Given the description of an element on the screen output the (x, y) to click on. 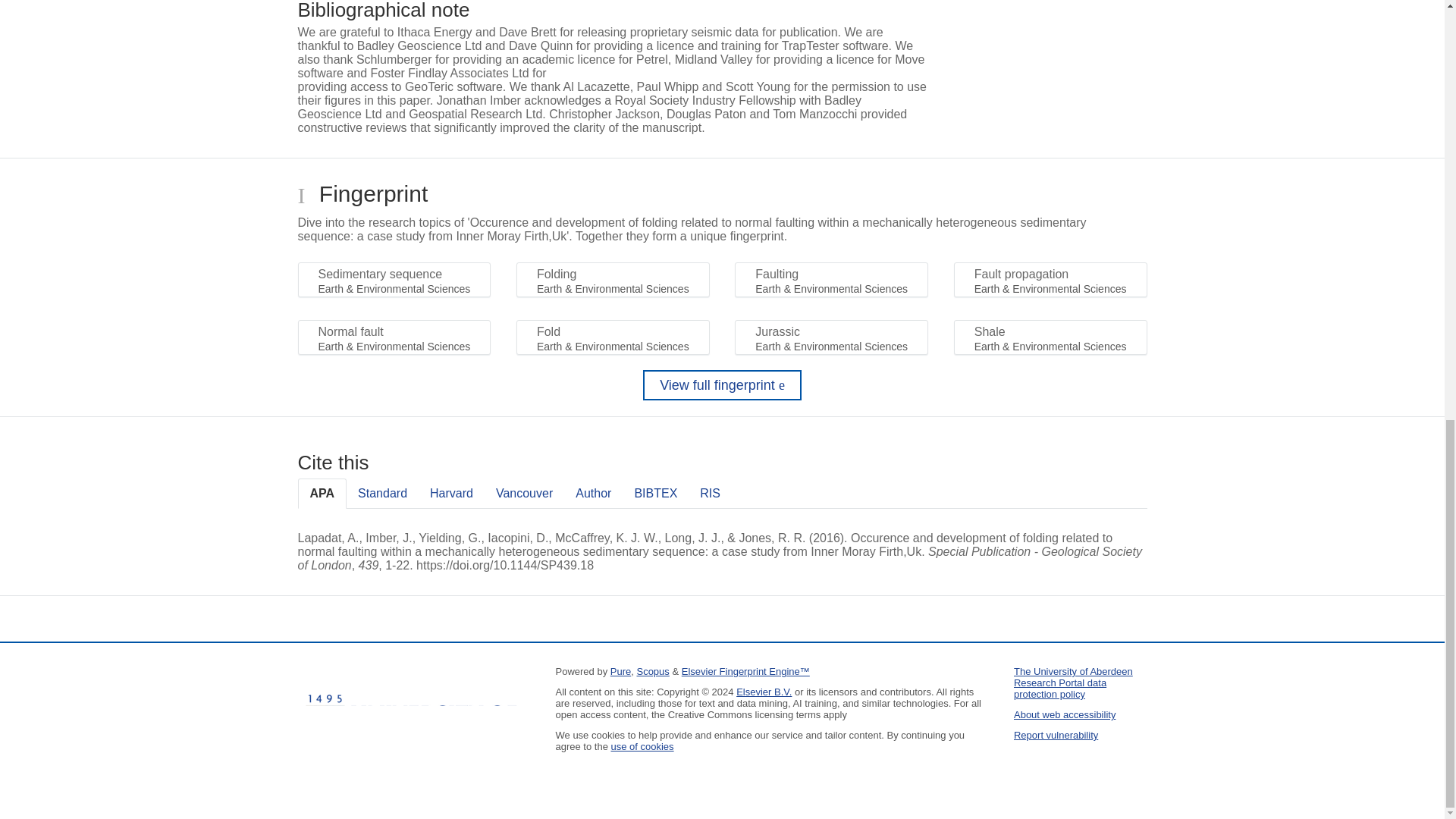
View full fingerprint (722, 385)
Pure (620, 671)
